Given the description of an element on the screen output the (x, y) to click on. 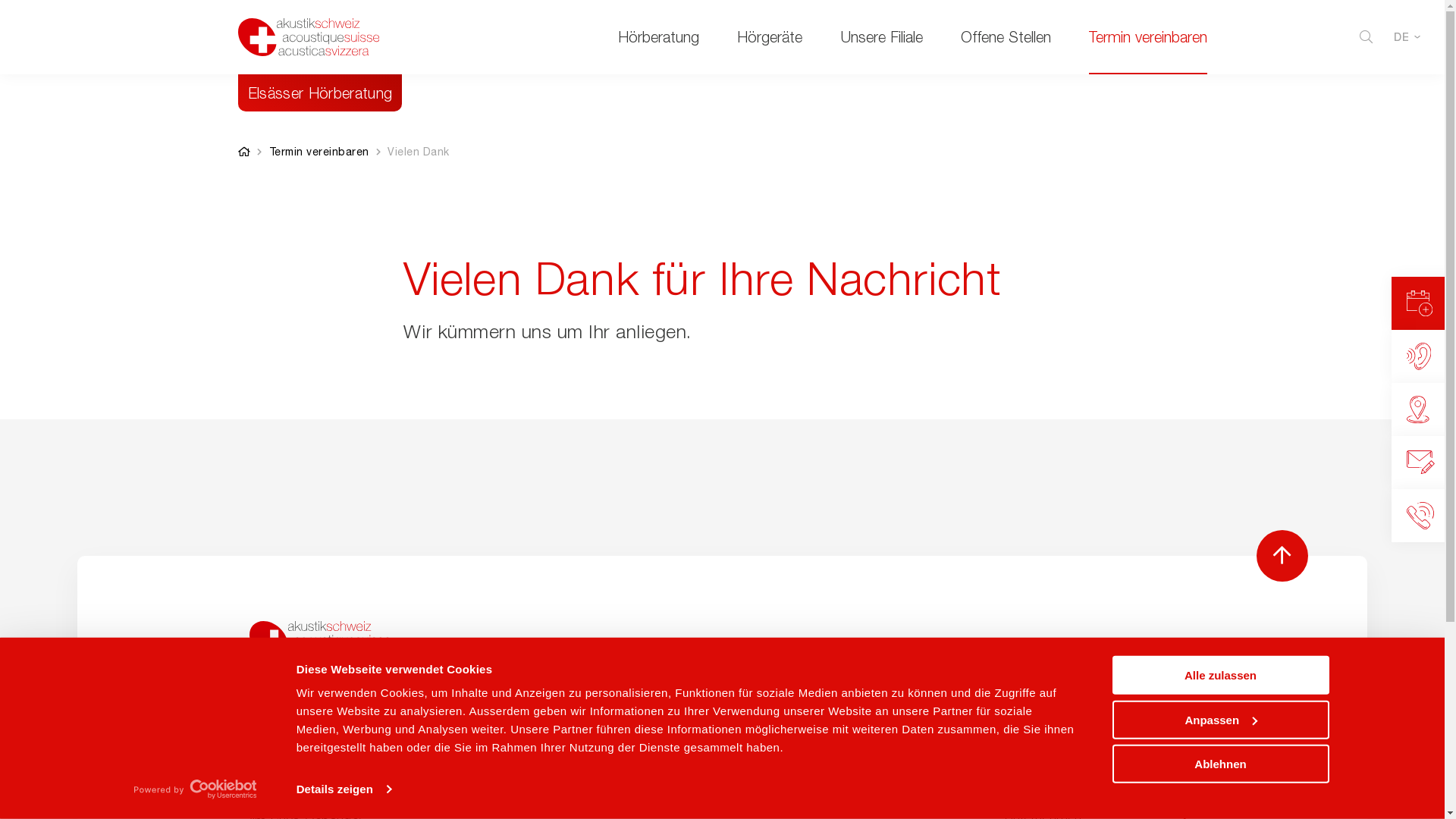
Ablehnen Element type: text (1219, 763)
Details zeigen Element type: text (343, 789)
Anpassen Element type: text (1219, 718)
Termin vereinbaren Element type: text (318, 152)
Offene Stellen Element type: text (1005, 36)
Wissenswertes Element type: text (1094, 775)
Unsere Filiale Element type: text (881, 36)
DE Element type: text (1406, 37)
Vielen Dank Element type: text (418, 152)
Termin vereinbaren Element type: text (1147, 36)
Alle zulassen Element type: text (1219, 674)
